Given the description of an element on the screen output the (x, y) to click on. 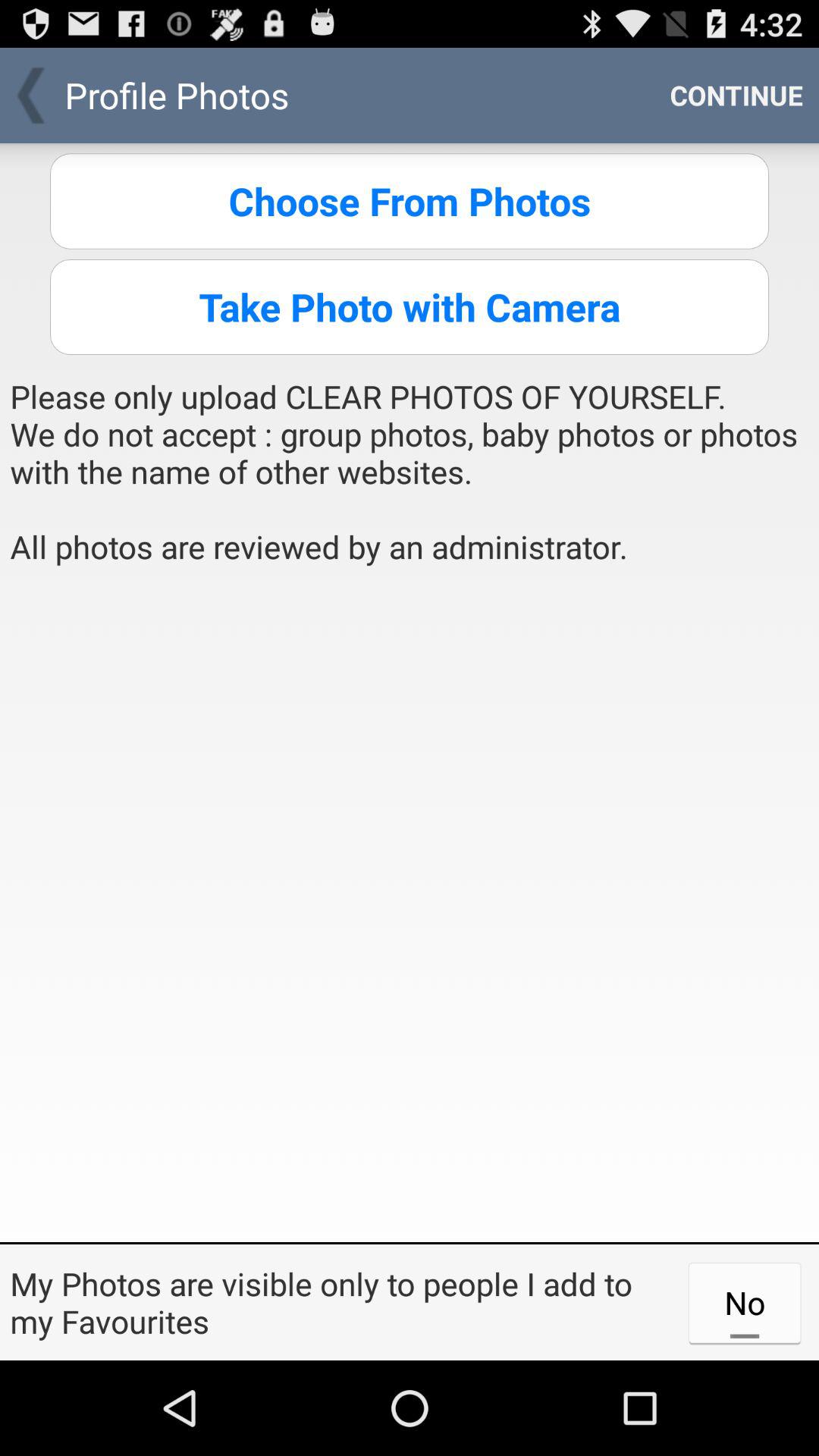
turn on button below choose from photos button (409, 306)
